Given the description of an element on the screen output the (x, y) to click on. 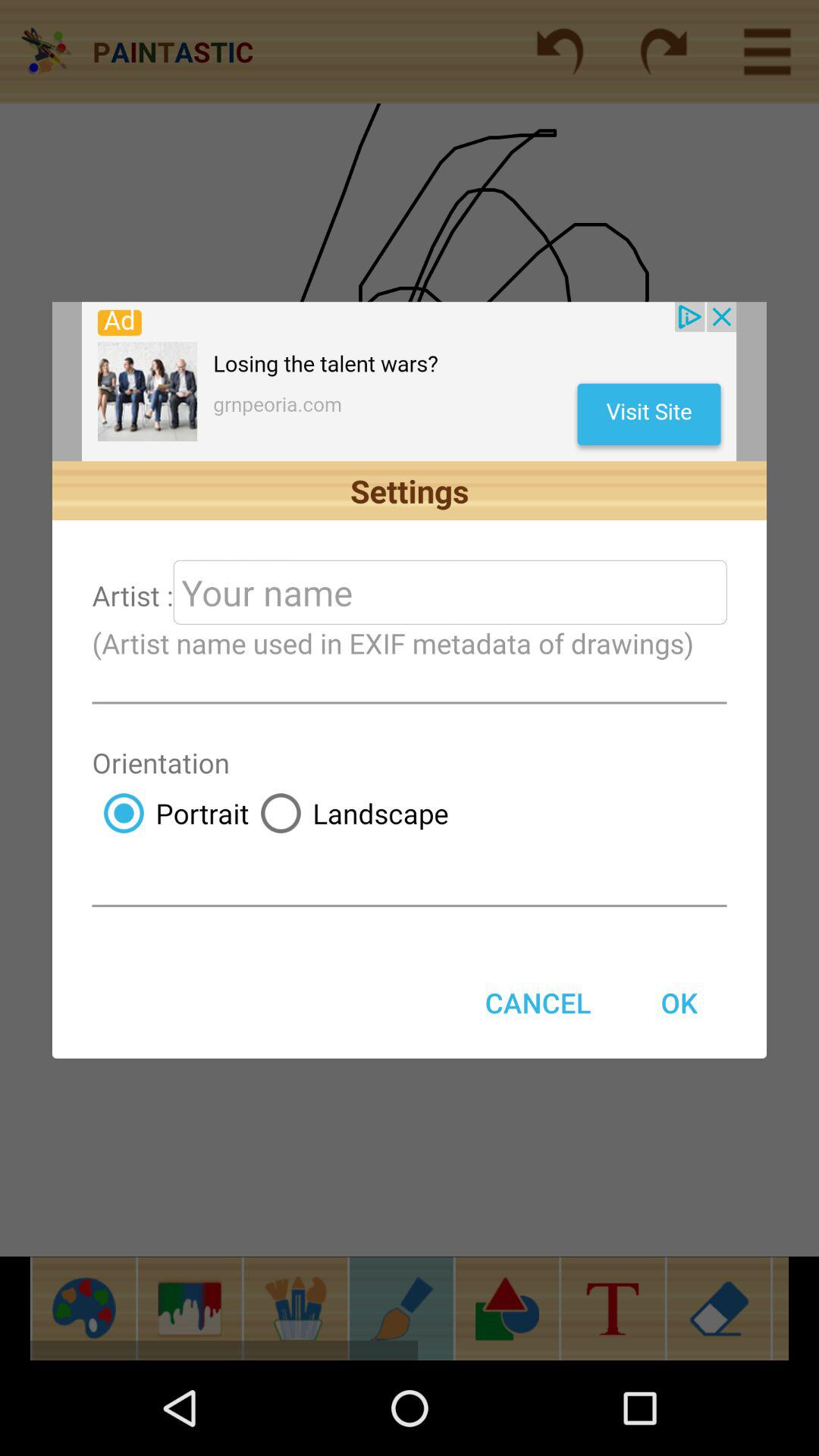
enter your name (449, 592)
